Given the description of an element on the screen output the (x, y) to click on. 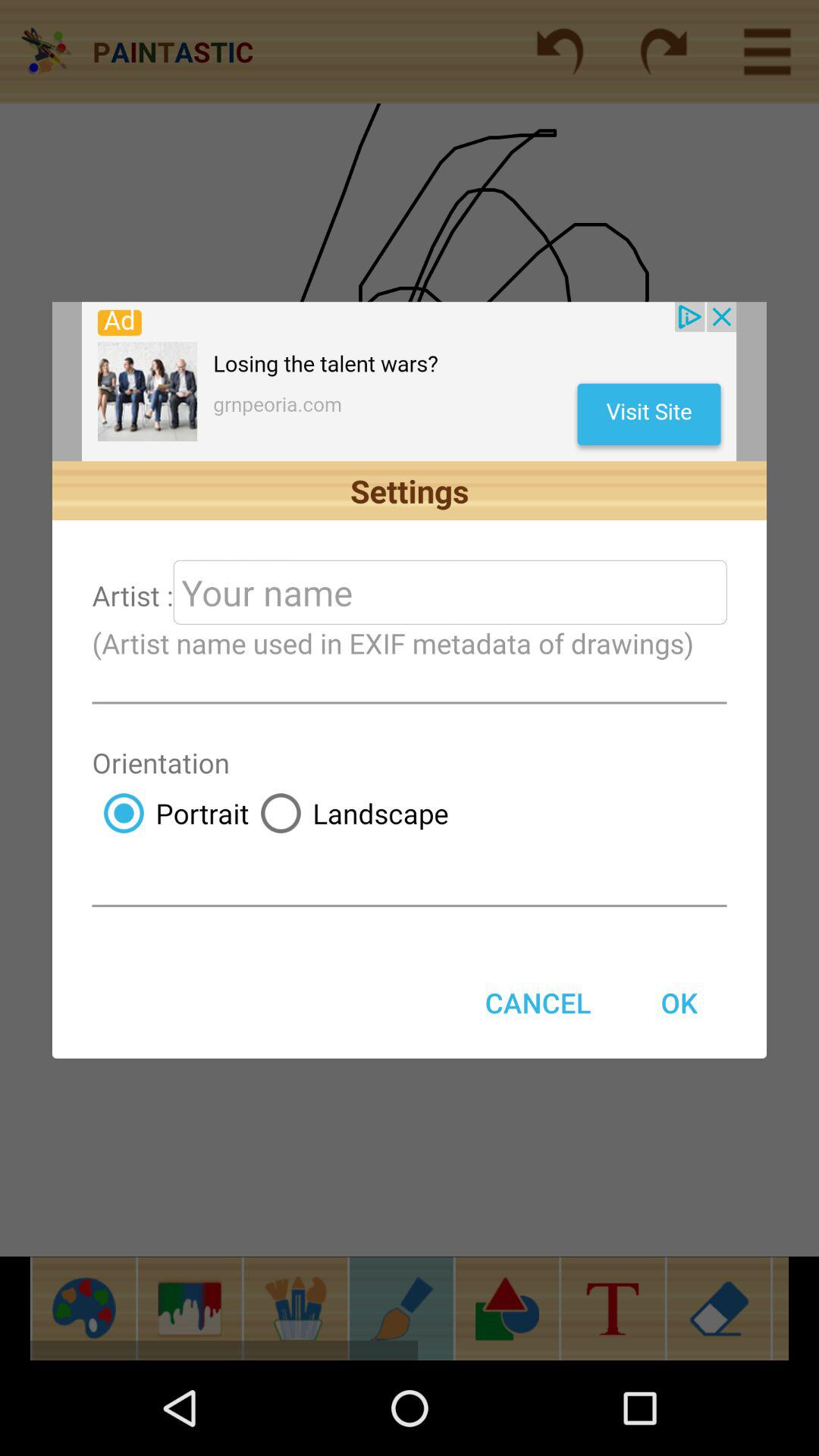
enter your name (449, 592)
